Given the description of an element on the screen output the (x, y) to click on. 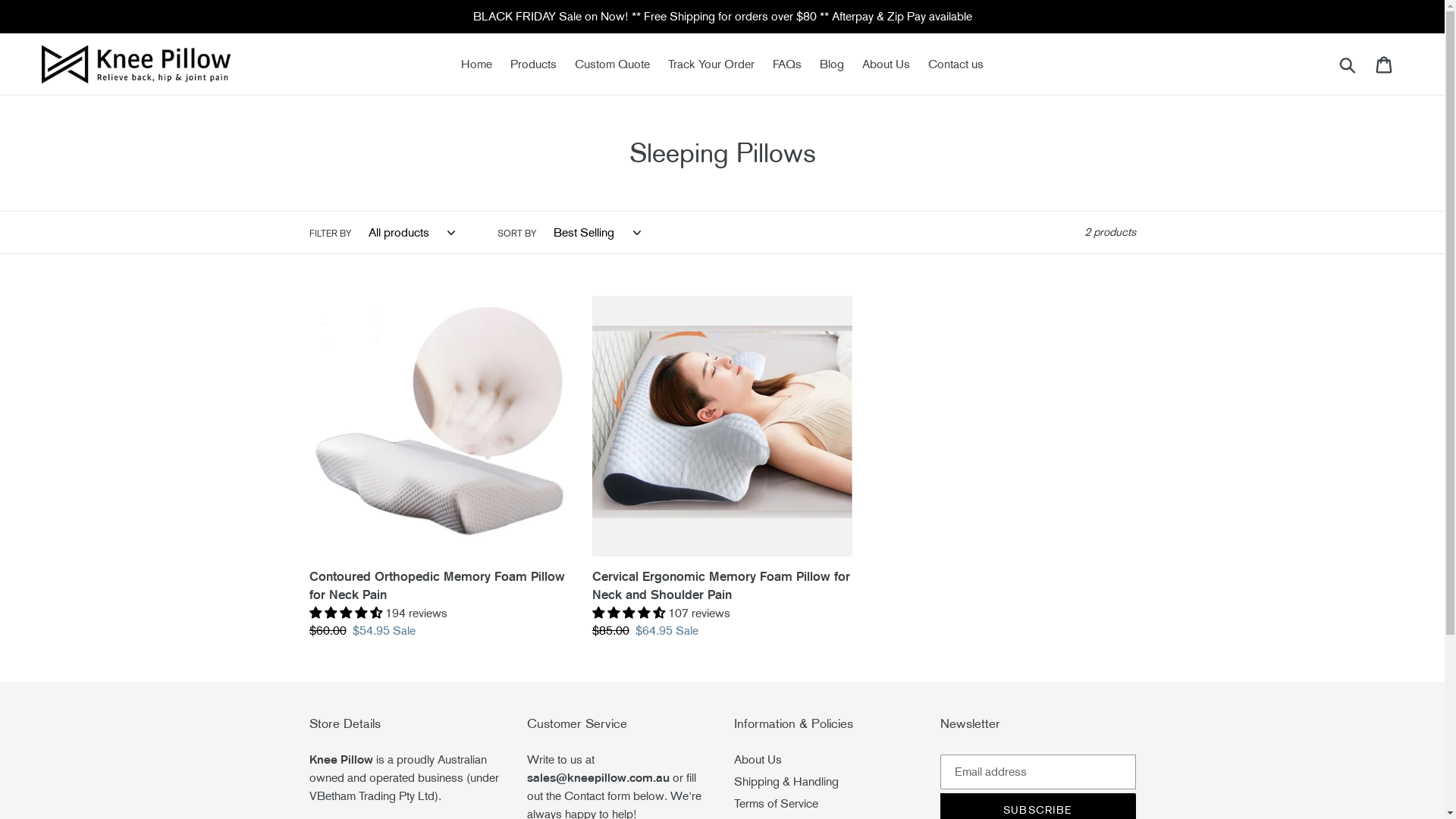
About Us Element type: text (885, 64)
Shipping & Handling Element type: text (786, 780)
Submit Element type: text (1348, 64)
Contoured Orthopedic Memory Foam Pillow for Neck Pain Element type: text (439, 467)
About Us Element type: text (757, 759)
Blog Element type: text (831, 64)
Contact us Element type: text (955, 64)
Home Element type: text (476, 64)
Products Element type: text (533, 64)
Custom Quote Element type: text (612, 64)
Track Your Order Element type: text (711, 64)
Terms of Service Element type: text (776, 803)
FAQs Element type: text (787, 64)
Cart Element type: text (1384, 64)
